Given the description of an element on the screen output the (x, y) to click on. 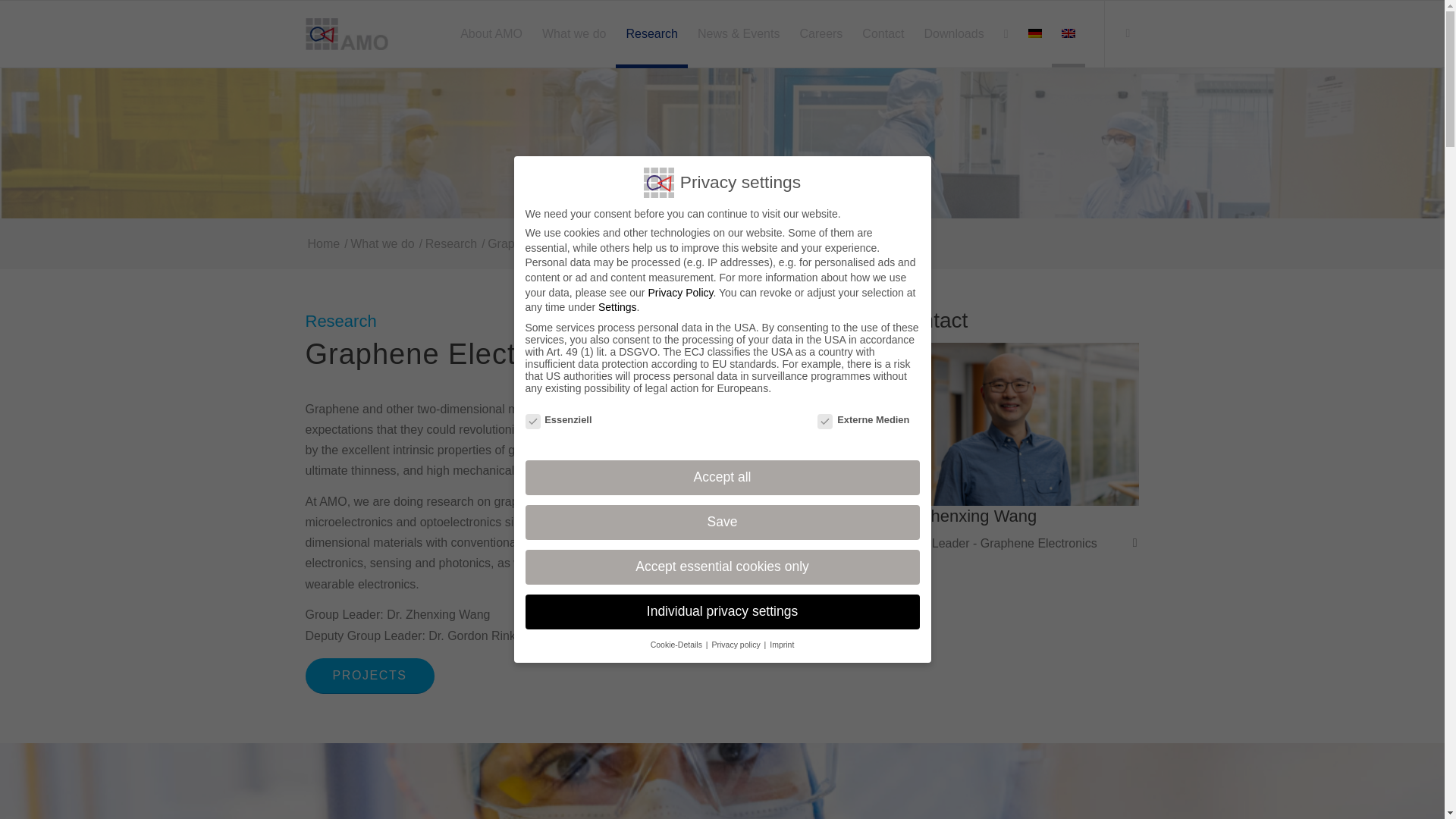
Careers (820, 33)
Deutsch (1034, 32)
Research (451, 243)
What we do (381, 243)
Research (451, 243)
About AMO (490, 33)
Contact (882, 33)
English (1068, 32)
Research (651, 33)
PROJECTS (368, 675)
